Given the description of an element on the screen output the (x, y) to click on. 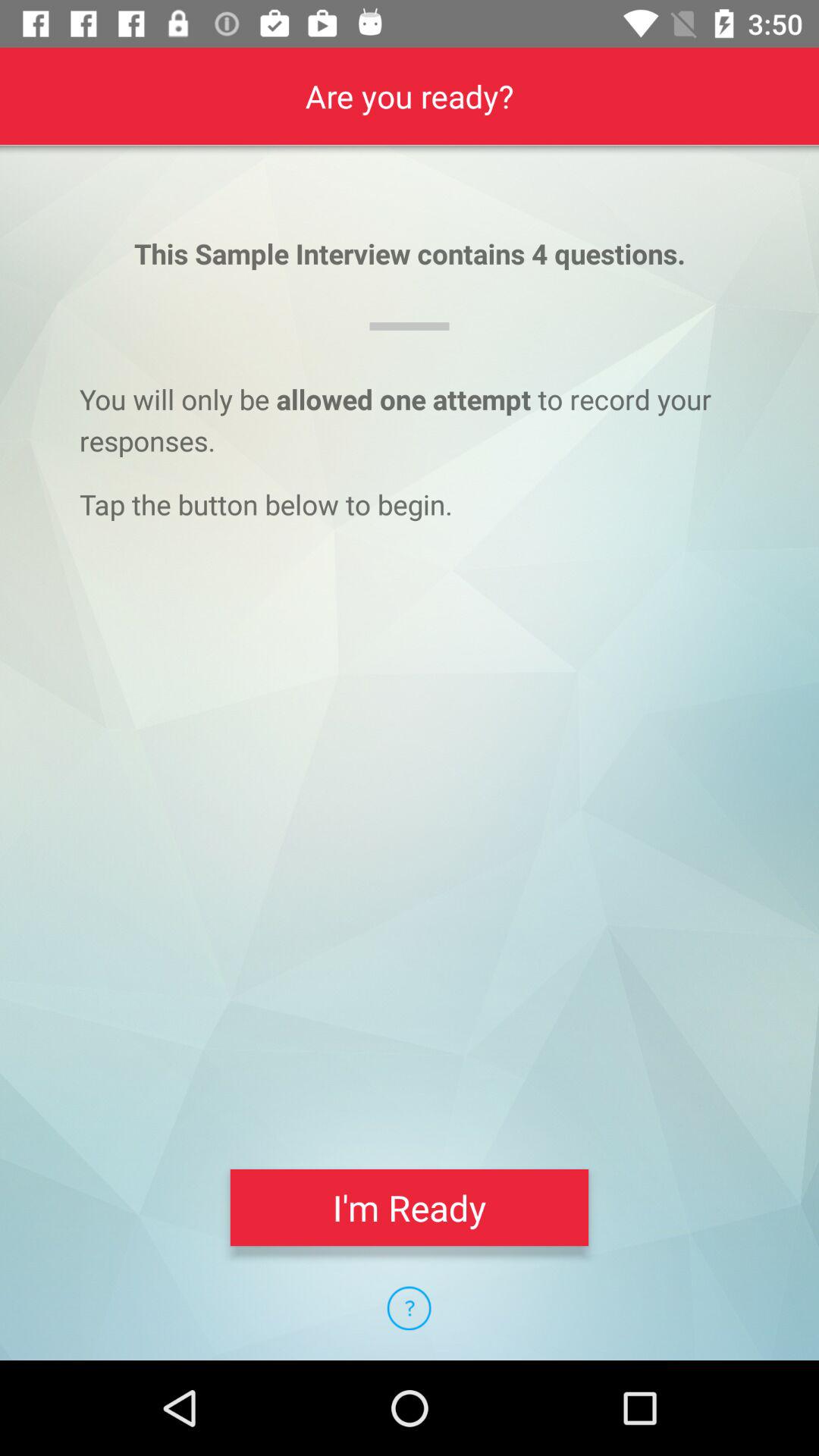
flip until i'm ready (409, 1207)
